Given the description of an element on the screen output the (x, y) to click on. 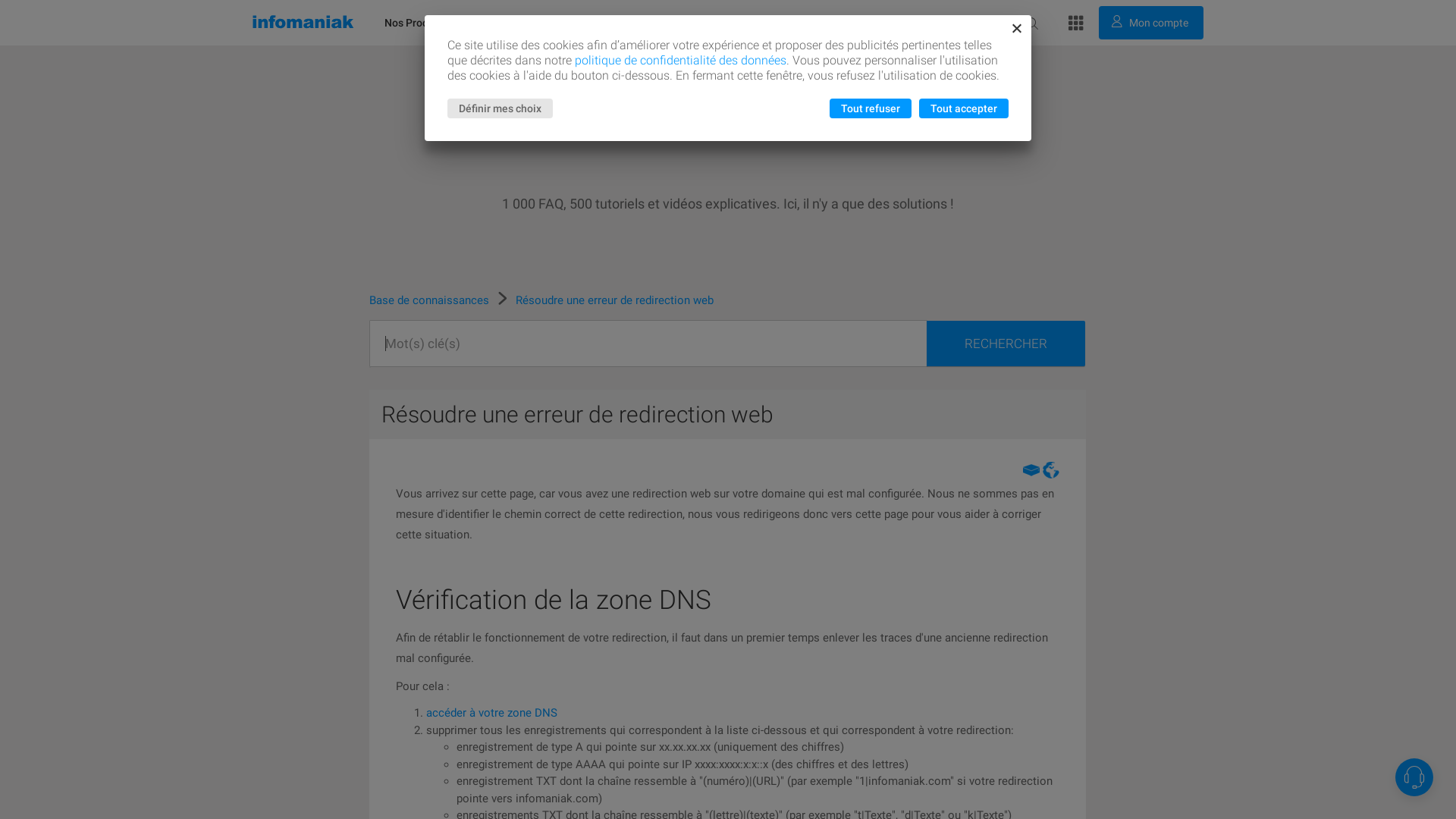
RECHERCHER Element type: text (1005, 343)
Base de connaissances Element type: text (430, 300)
Mon compte Element type: text (1150, 22)
